Given the description of an element on the screen output the (x, y) to click on. 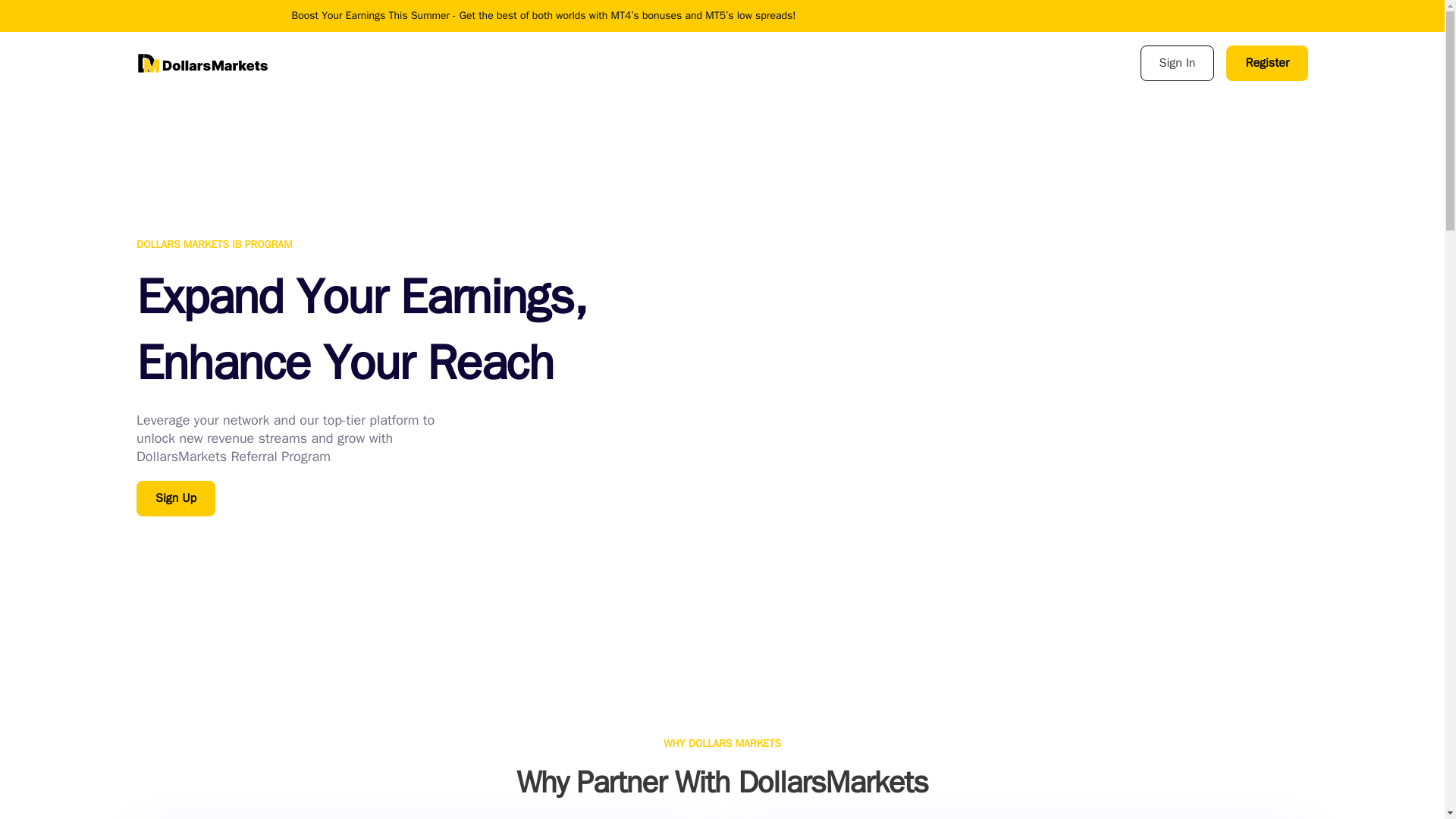
Sign In (1177, 63)
Register (1266, 63)
Sign Up (175, 498)
